Given the description of an element on the screen output the (x, y) to click on. 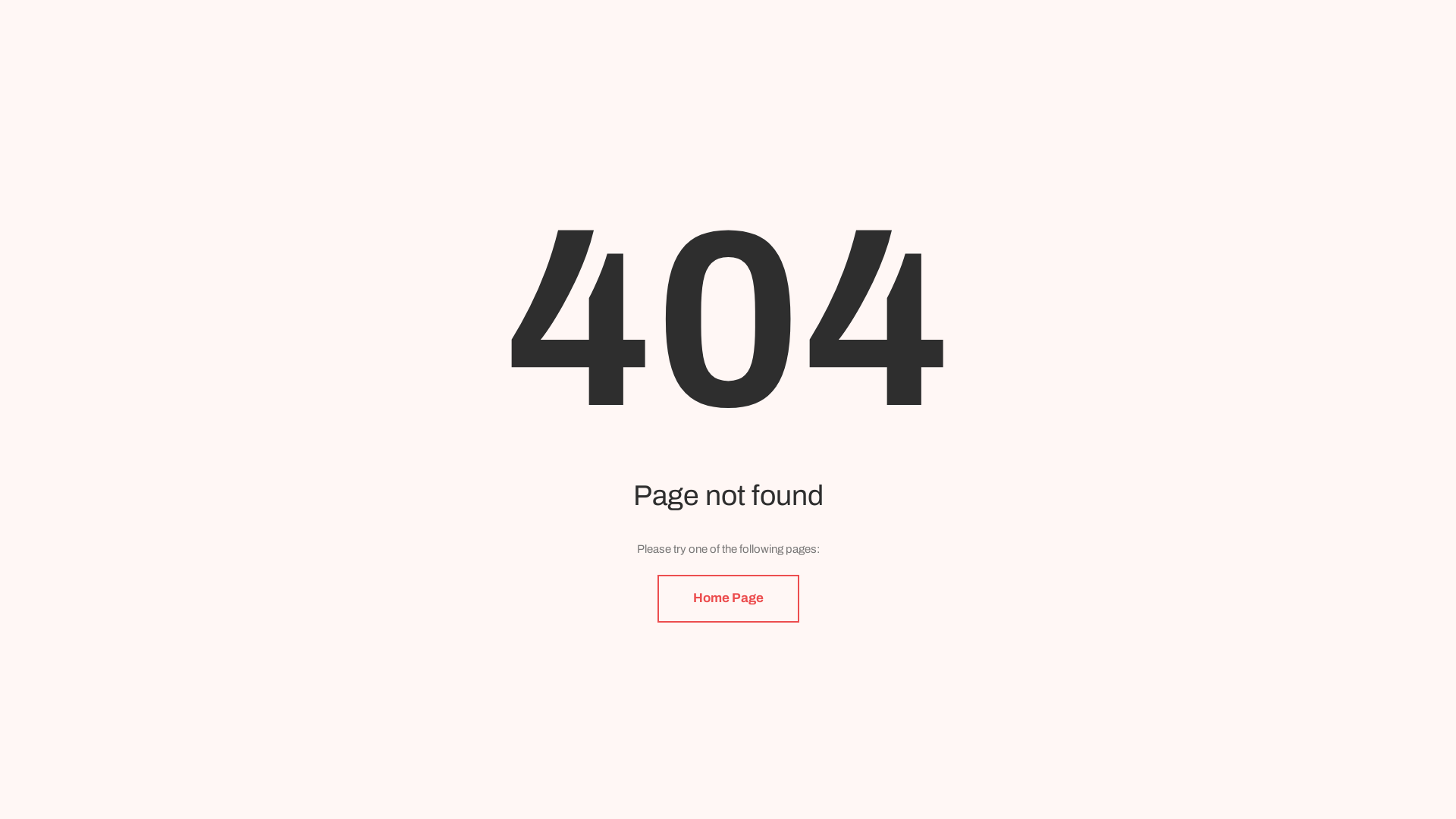
Home Page Element type: text (727, 598)
